Given the description of an element on the screen output the (x, y) to click on. 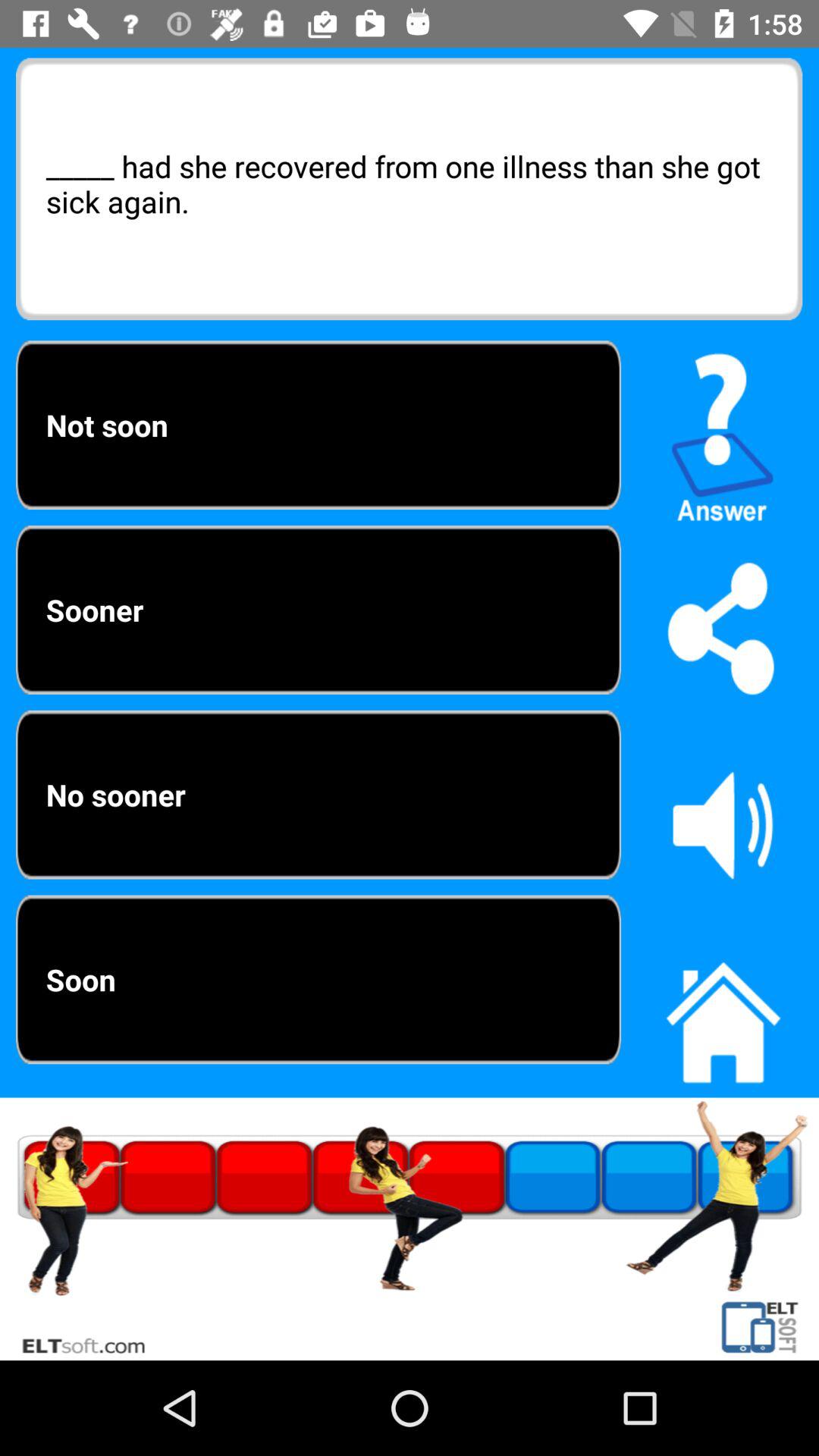
tap app below the _____ had she (723, 430)
